Given the description of an element on the screen output the (x, y) to click on. 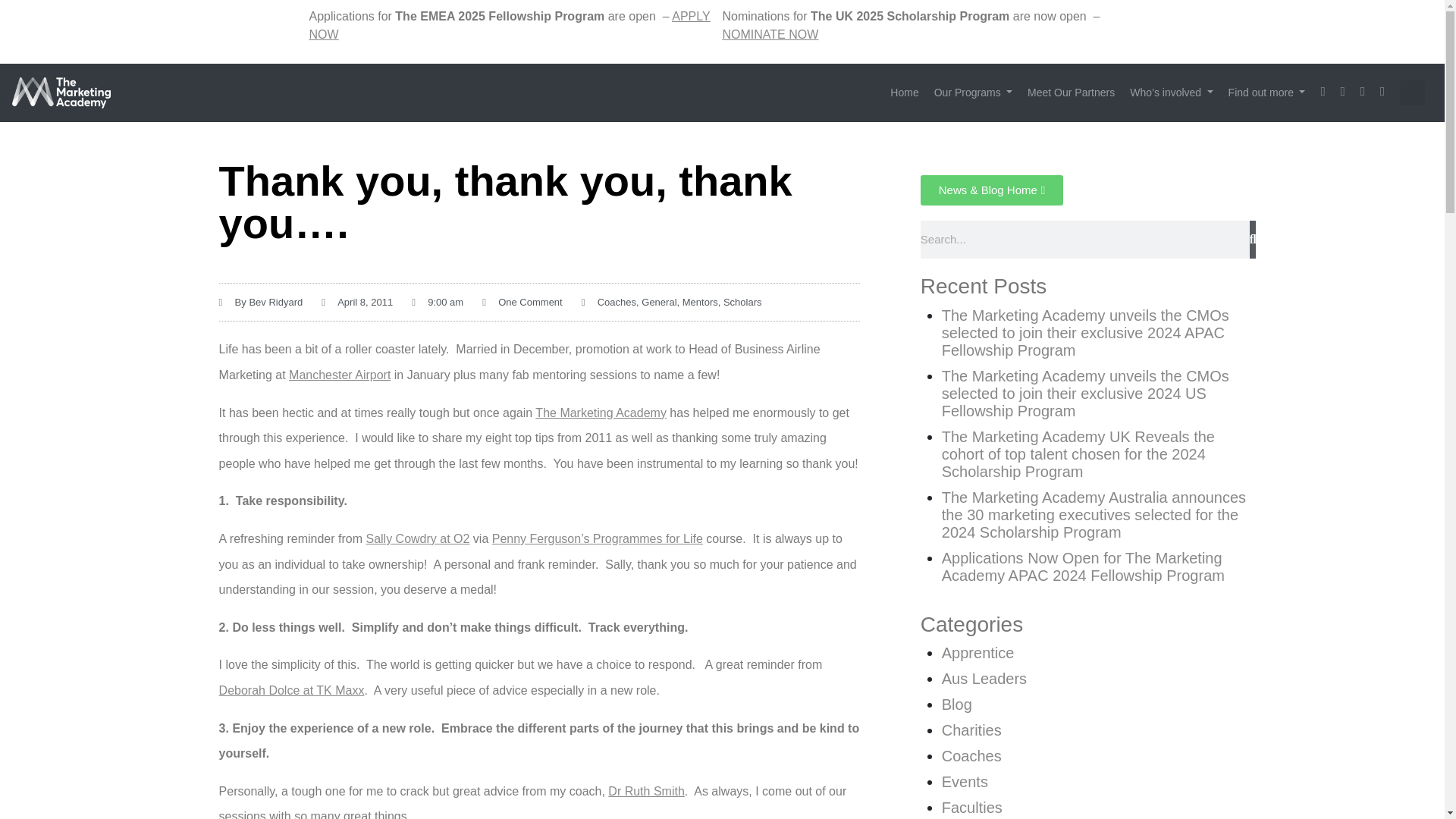
Meet Our Partners (1071, 92)
Our Programs (972, 92)
Home (903, 92)
